Given the description of an element on the screen output the (x, y) to click on. 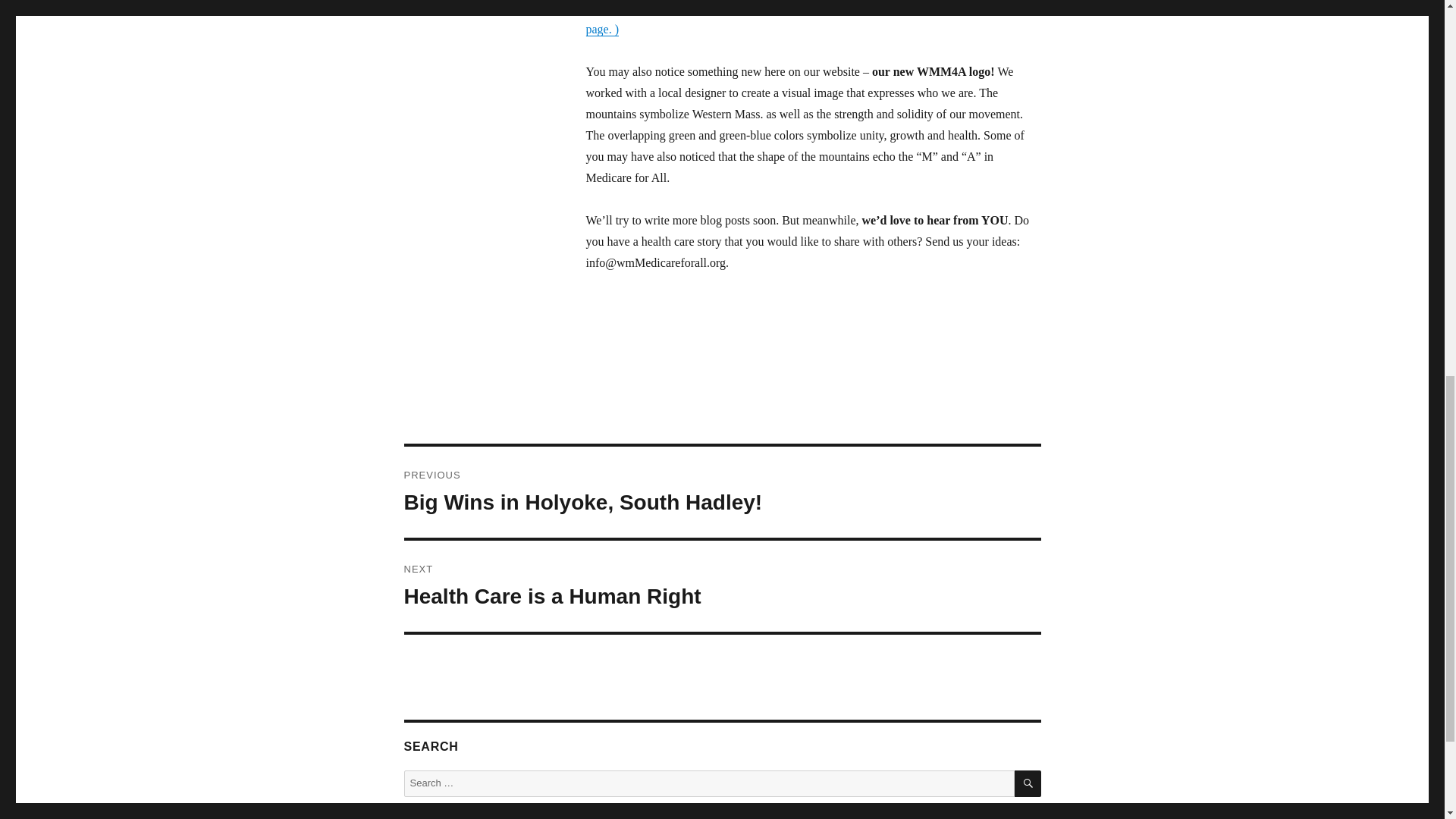
SEARCH (1027, 783)
